Given the description of an element on the screen output the (x, y) to click on. 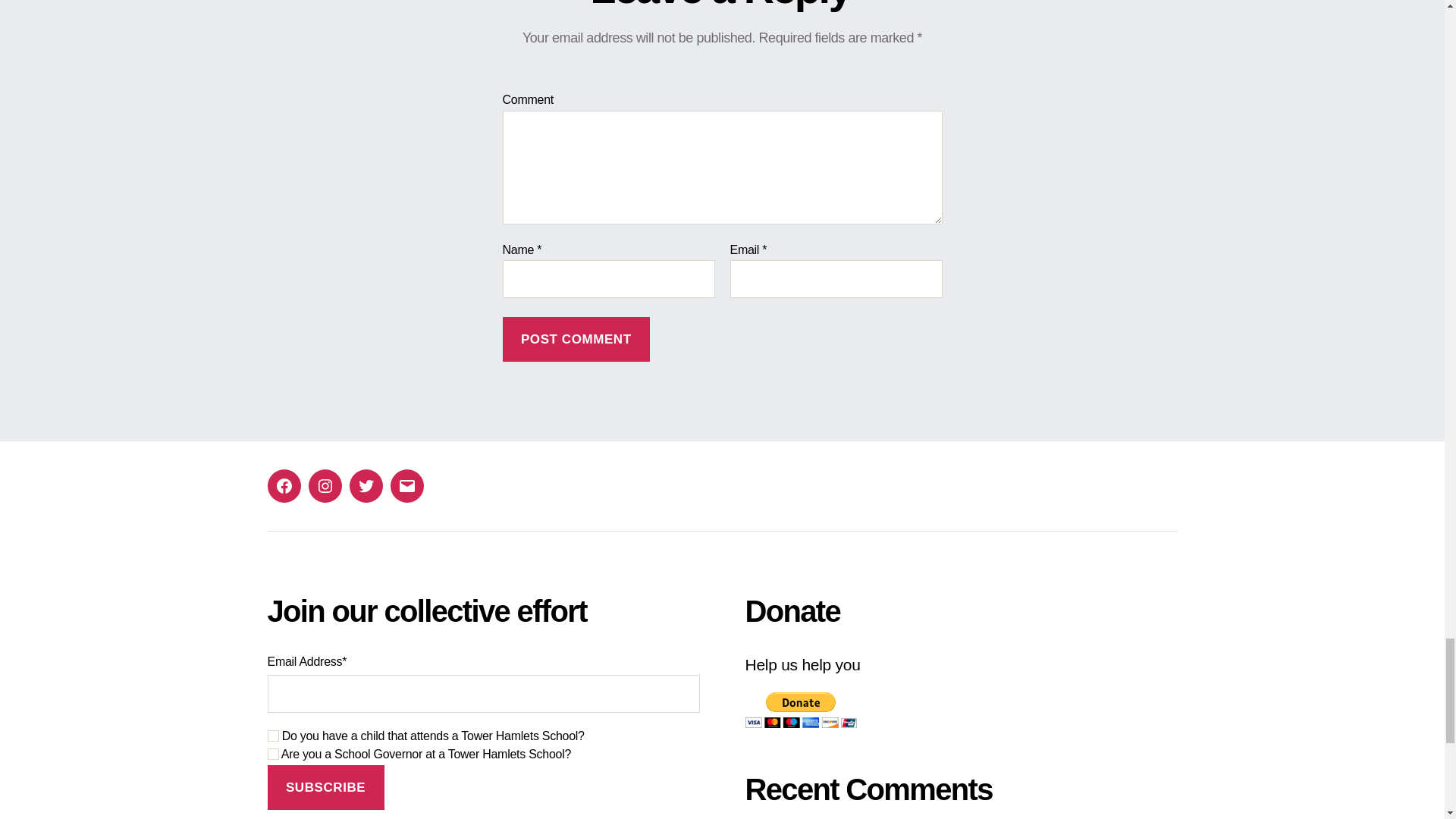
1 (272, 754)
1 (272, 736)
Post Comment (575, 338)
Subscribe (325, 786)
